Given the description of an element on the screen output the (x, y) to click on. 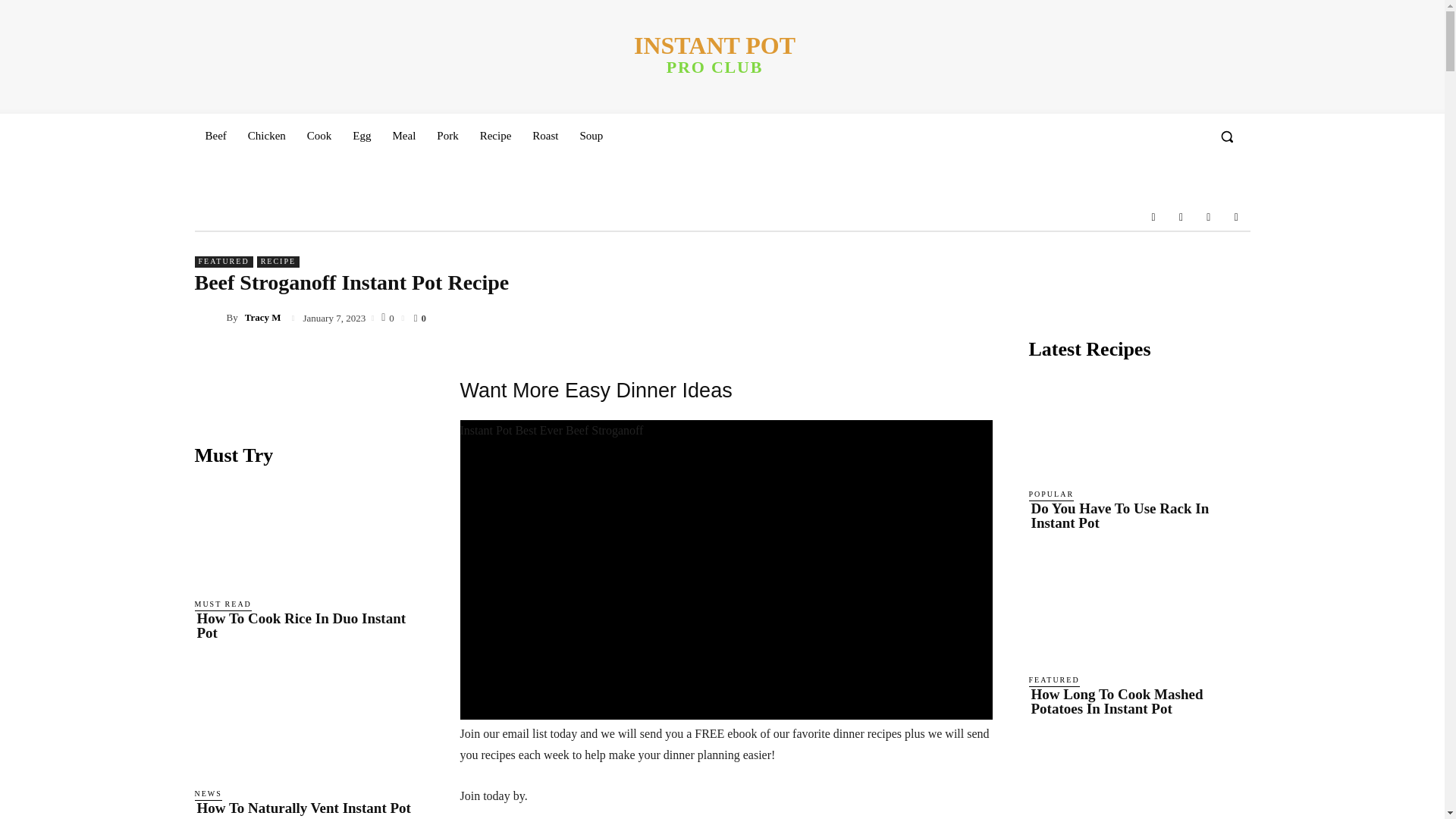
Facebook (1153, 216)
Egg (361, 135)
Youtube (1236, 216)
Chicken (267, 135)
Roast (545, 135)
Soup (591, 135)
Pork (447, 135)
Cook (319, 135)
Instagram (713, 54)
Recipe (1180, 216)
Meal (495, 135)
Beef (403, 135)
VKontakte (214, 135)
